Given the description of an element on the screen output the (x, y) to click on. 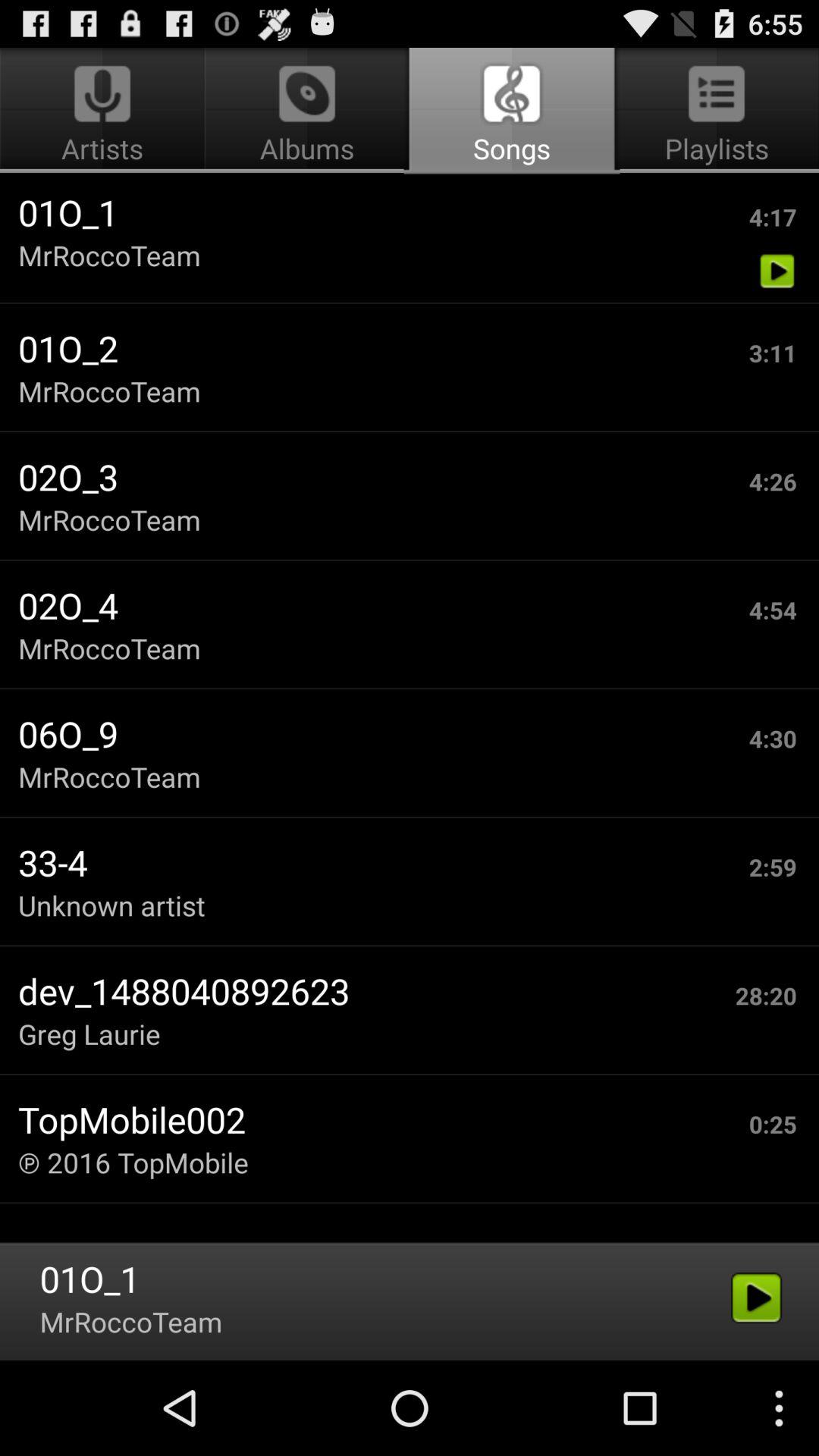
press artists (105, 111)
